Given the description of an element on the screen output the (x, y) to click on. 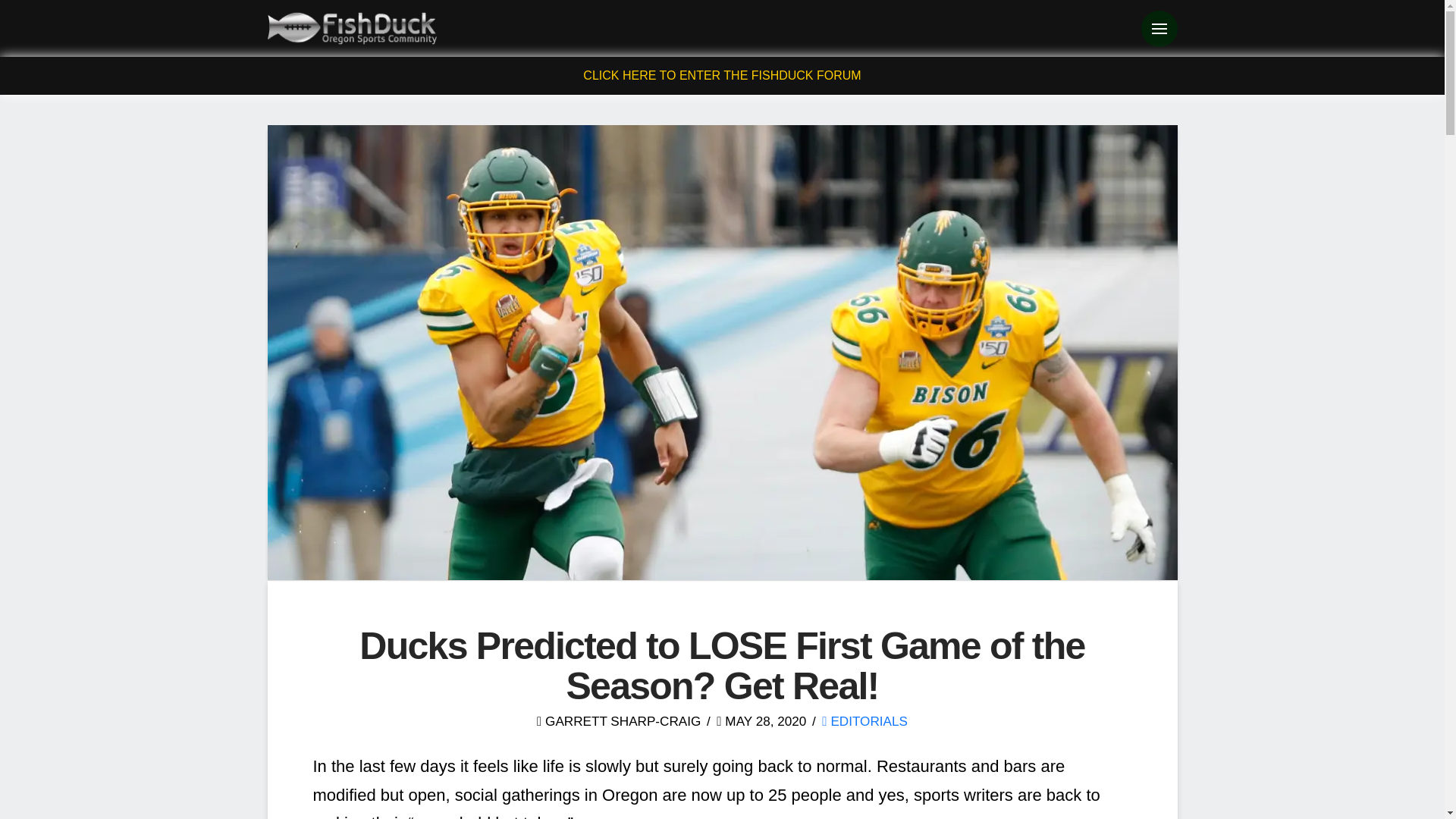
EDITORIALS (864, 720)
CLICK HERE TO ENTER THE FISHDUCK FORUM (721, 74)
